Given the description of an element on the screen output the (x, y) to click on. 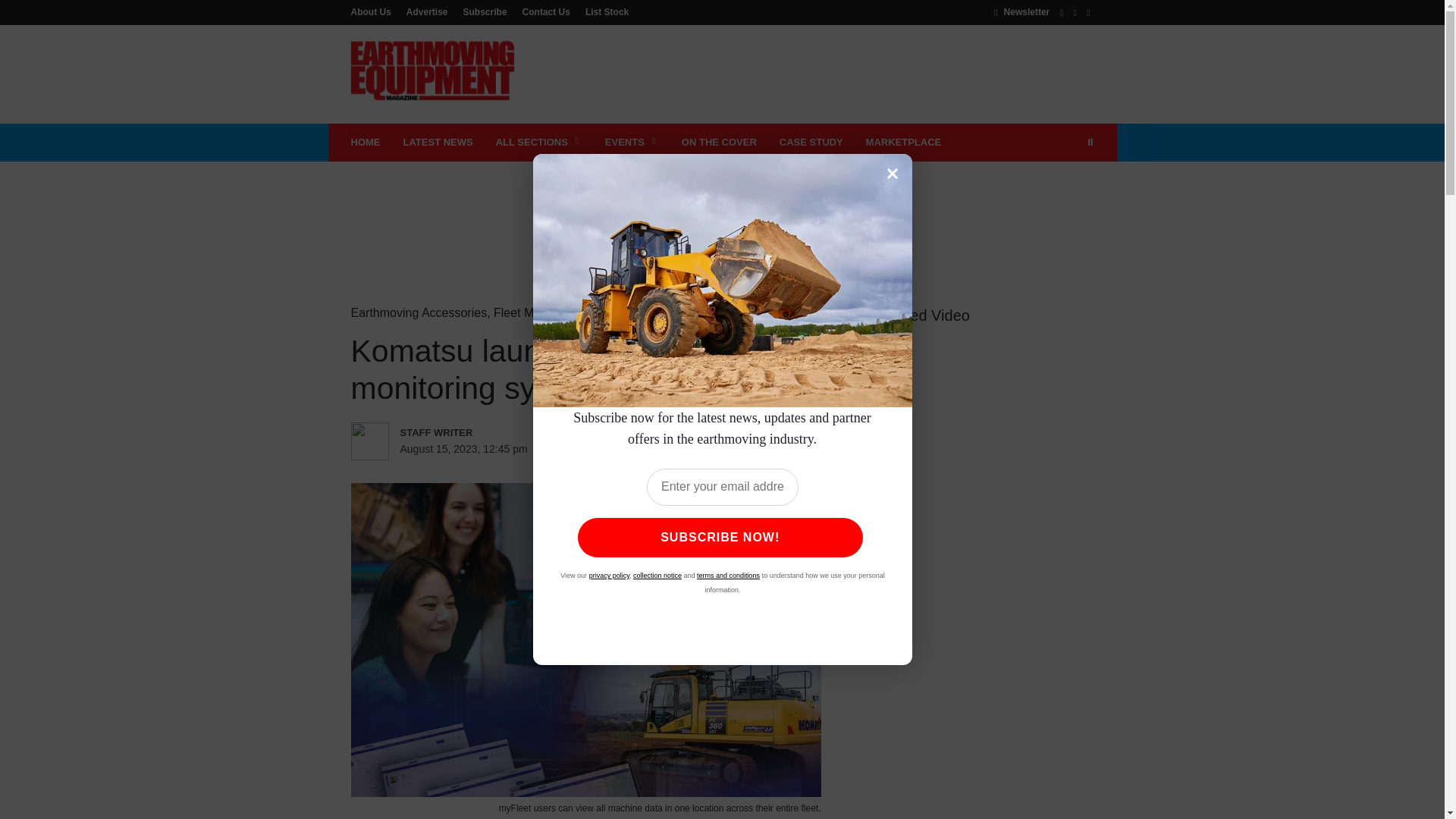
ALL SECTIONS (539, 142)
Share on Facebook (604, 449)
Subscribe (485, 11)
Share on Copy Link (759, 449)
Contact Us (546, 11)
Share on Print (697, 449)
Newsletter (1021, 11)
3rd party ad content (721, 210)
Advertise (426, 11)
LATEST NEWS (437, 142)
Share on Email (728, 449)
3rd party ad content (817, 74)
About Us (373, 11)
View all posts by Staff Writer (465, 432)
HOME (365, 142)
